Given the description of an element on the screen output the (x, y) to click on. 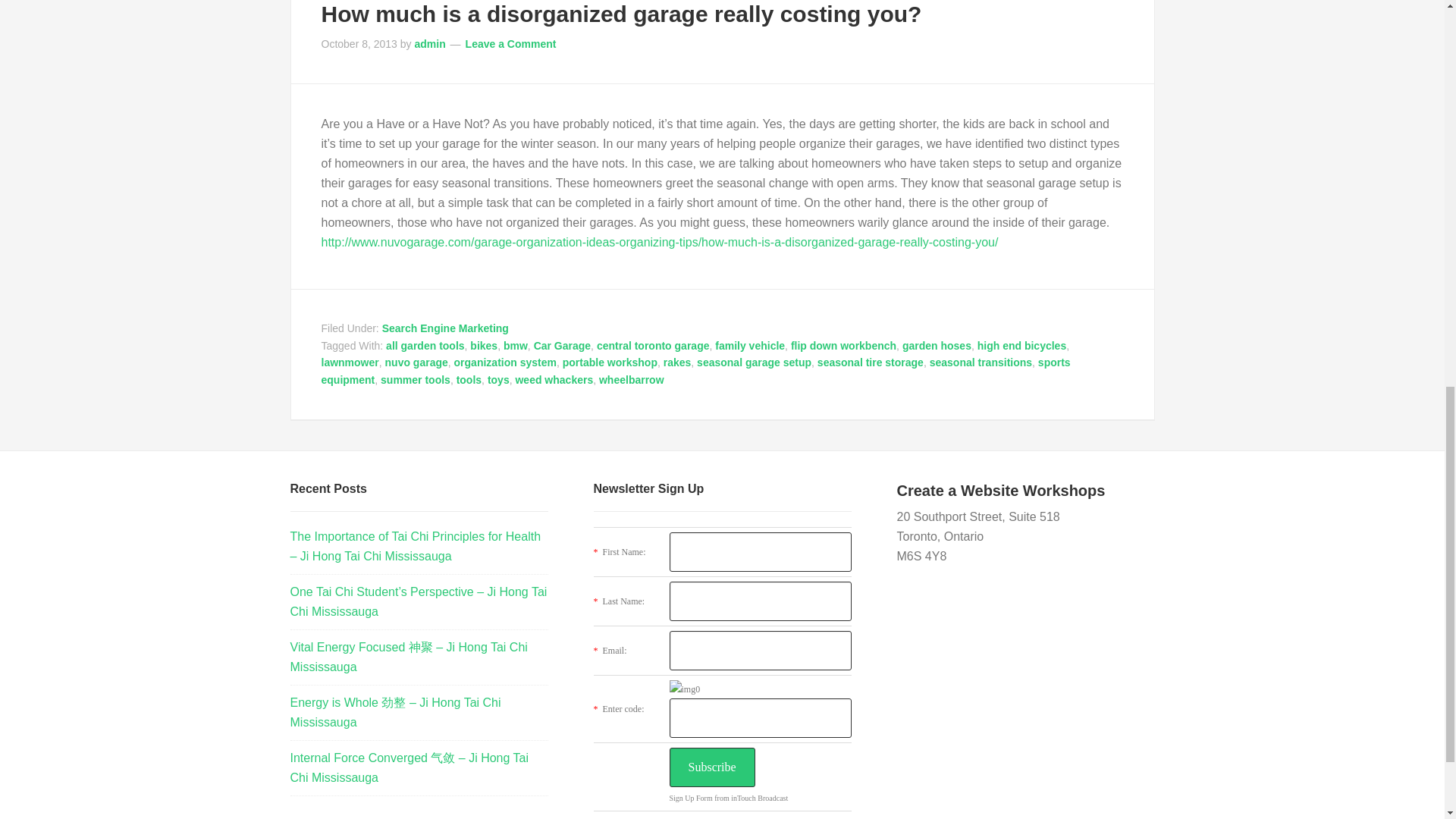
Subscribe (711, 767)
